Given the description of an element on the screen output the (x, y) to click on. 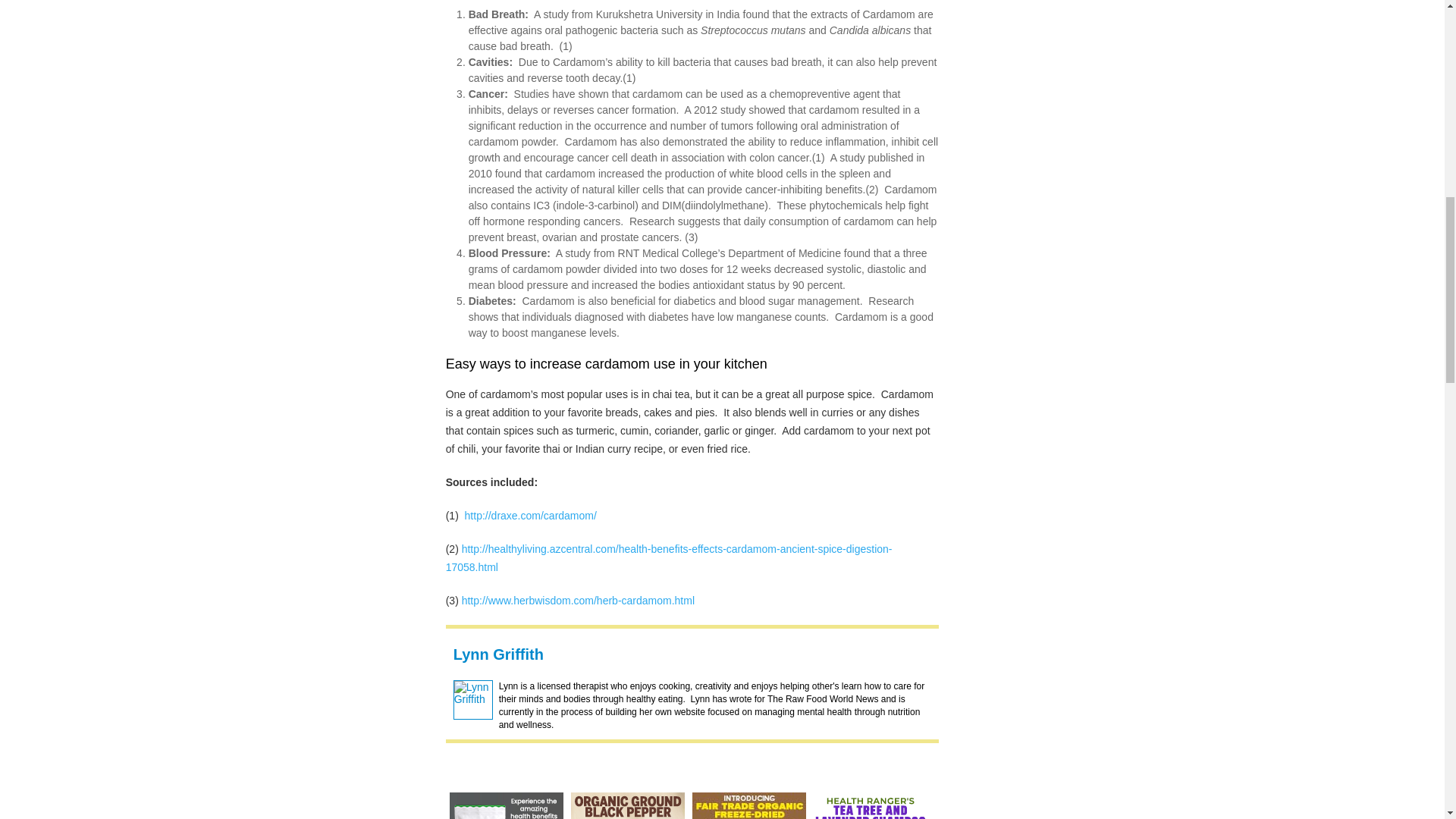
Lynn Griffith (497, 654)
